Given the description of an element on the screen output the (x, y) to click on. 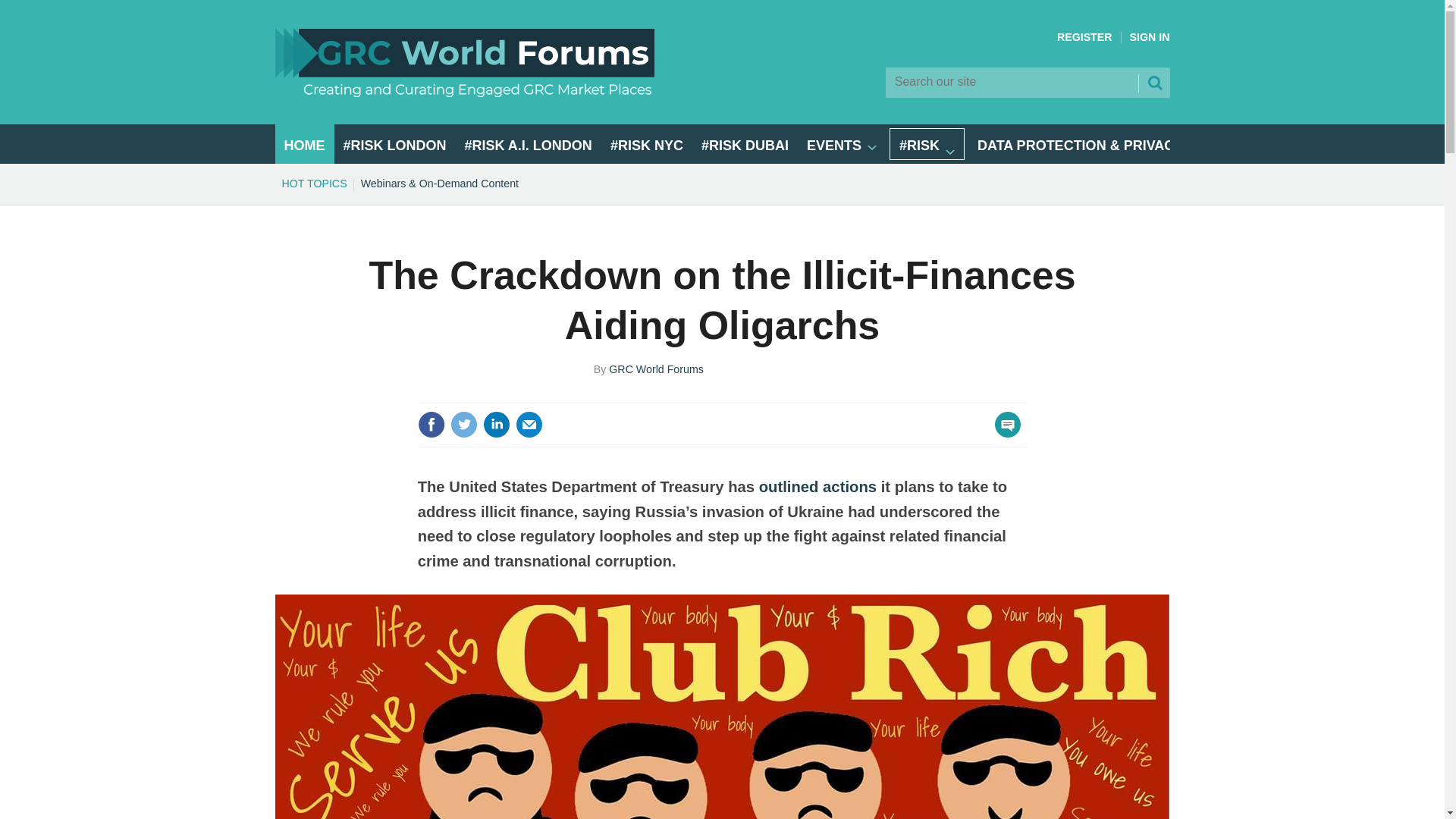
Share this on Facebook (431, 424)
Share this on Twitter (463, 424)
SIGN IN (1149, 37)
SEARCH (1153, 82)
Email this article (529, 424)
No comments (1003, 433)
REGISTER (1084, 37)
Site name (464, 92)
Share this on Linked in (497, 424)
